Given the description of an element on the screen output the (x, y) to click on. 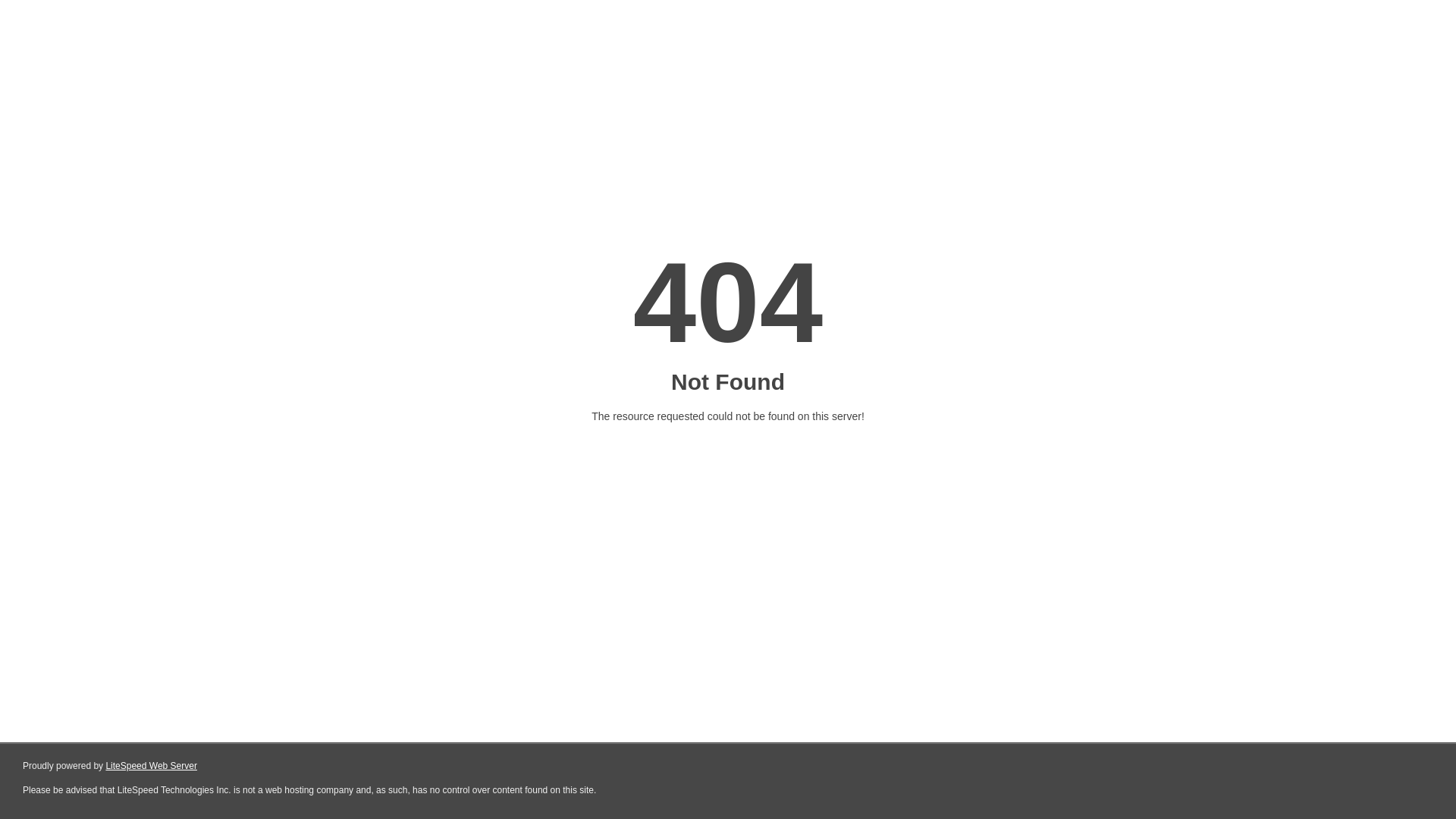
LiteSpeed Web Server Element type: text (151, 765)
